Given the description of an element on the screen output the (x, y) to click on. 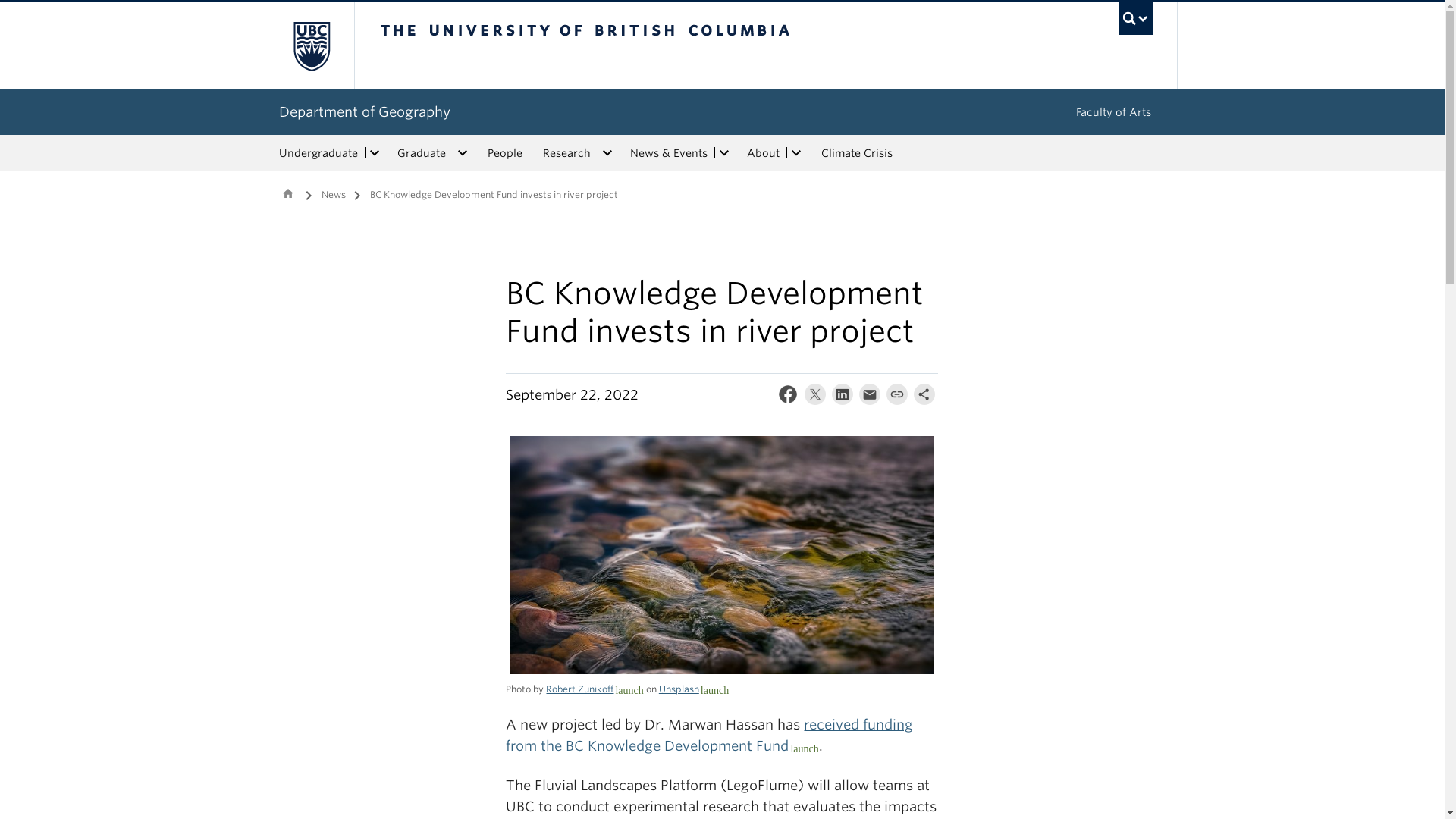
Graduate (419, 153)
The University of British Columbia (309, 45)
Copy Link (897, 397)
The University of British Columbia (635, 45)
UBC Search (1135, 18)
Email (869, 397)
Department of Geography (364, 111)
Department of Geography (288, 193)
Twitter (815, 397)
LinkedIn (842, 397)
People (505, 153)
Facebook (788, 397)
Faculty of Arts (1112, 112)
News (333, 197)
Research (564, 153)
